Given the description of an element on the screen output the (x, y) to click on. 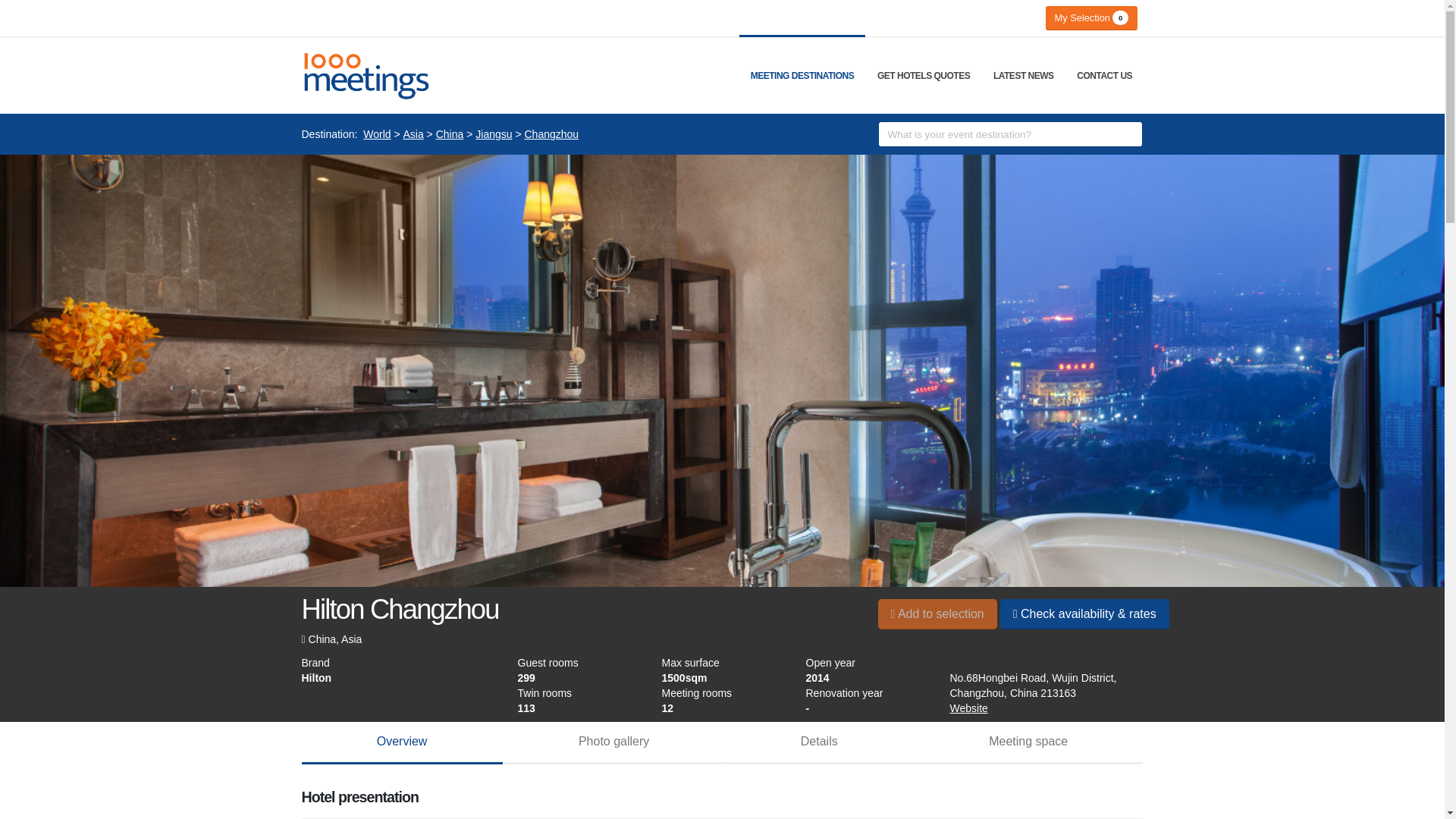
CONTACT US (1103, 75)
Add to selection (937, 613)
Overview (401, 742)
My Selection 0 (1091, 17)
Changzhou (551, 134)
Details (818, 742)
China (449, 134)
Photo gallery (614, 742)
World (376, 134)
Website (968, 707)
LATEST NEWS (1023, 75)
Meeting space (1028, 742)
MEETING DESTINATIONS (801, 75)
GET HOTELS QUOTES (923, 75)
Jiangsu (494, 134)
